Given the description of an element on the screen output the (x, y) to click on. 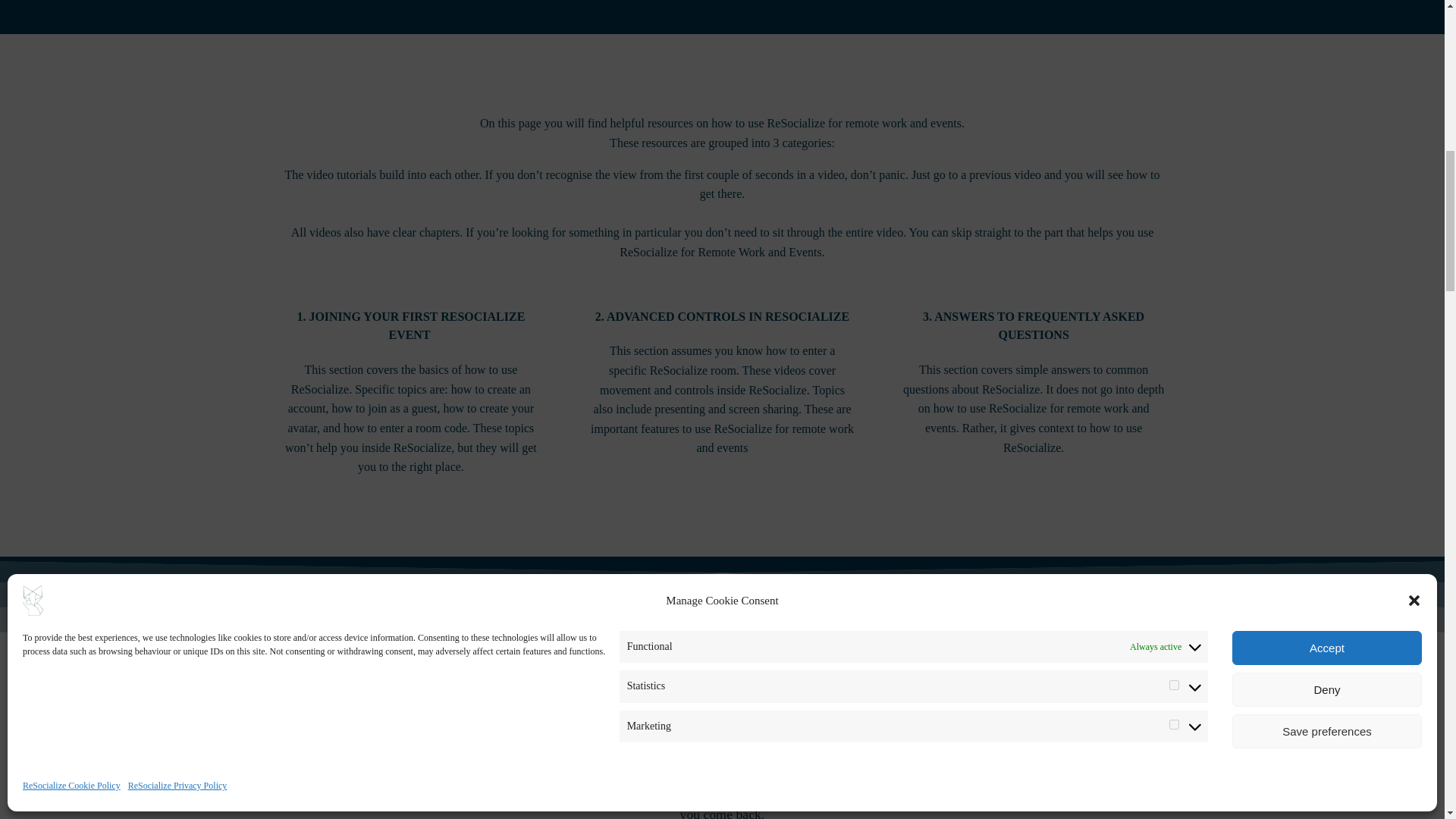
1. JOINING YOUR FIRST RESOCIALIZE EVENT  (411, 326)
3. ANSWERS TO FREQUENTLY ASKED QUESTIONS (1034, 326)
2. ADVANCED CONTROLS IN RESOCIALIZE (722, 316)
